Given the description of an element on the screen output the (x, y) to click on. 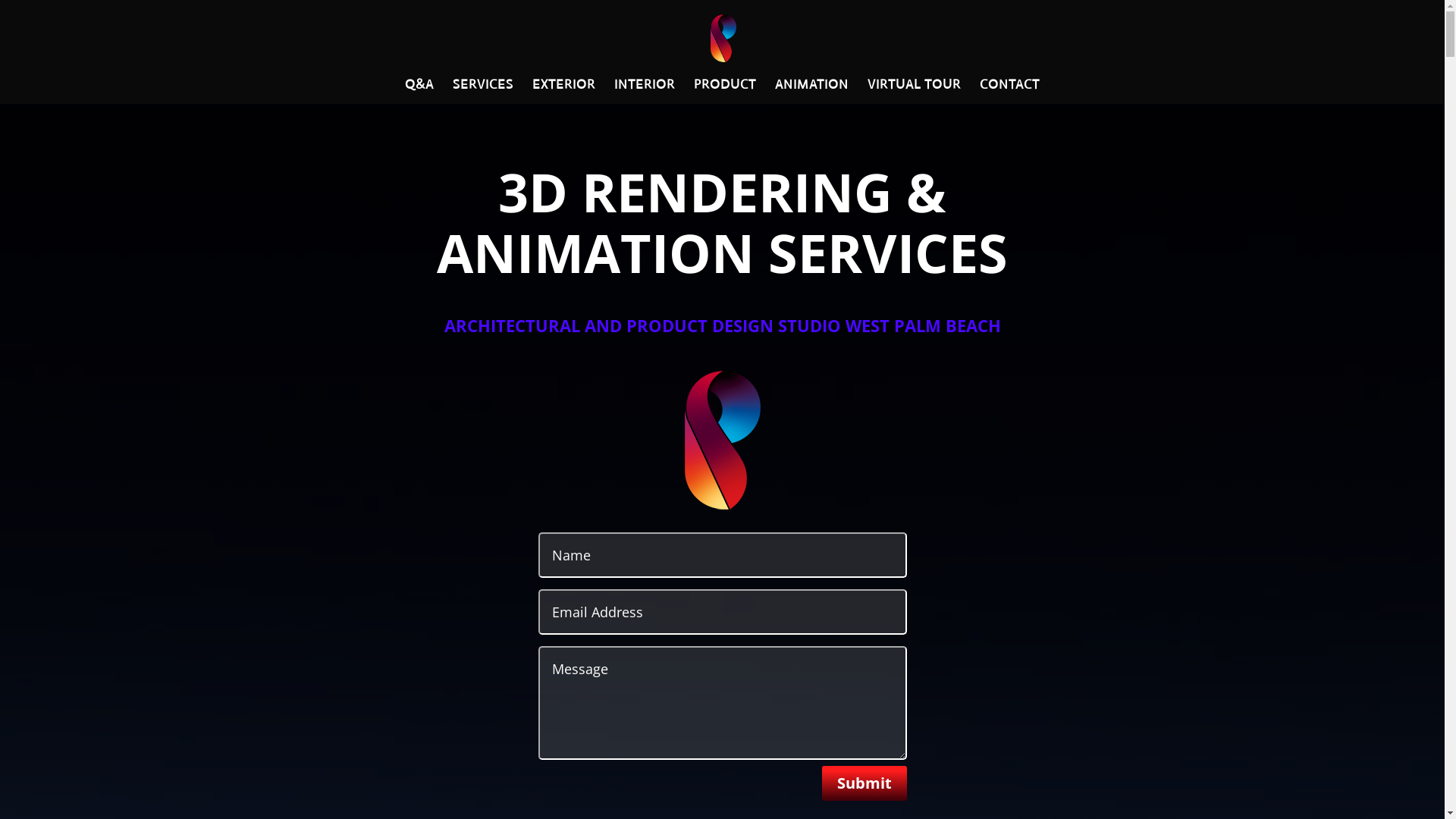
Submit Element type: text (864, 782)
INTERIOR Element type: text (644, 91)
VIRTUAL TOUR Element type: text (913, 91)
Q&A Element type: text (418, 91)
PRODUCT Element type: text (724, 91)
CONTACT Element type: text (1009, 91)
EXTERIOR Element type: text (563, 91)
SERVICES Element type: text (482, 91)
ANIMATION Element type: text (811, 91)
